Given the description of an element on the screen output the (x, y) to click on. 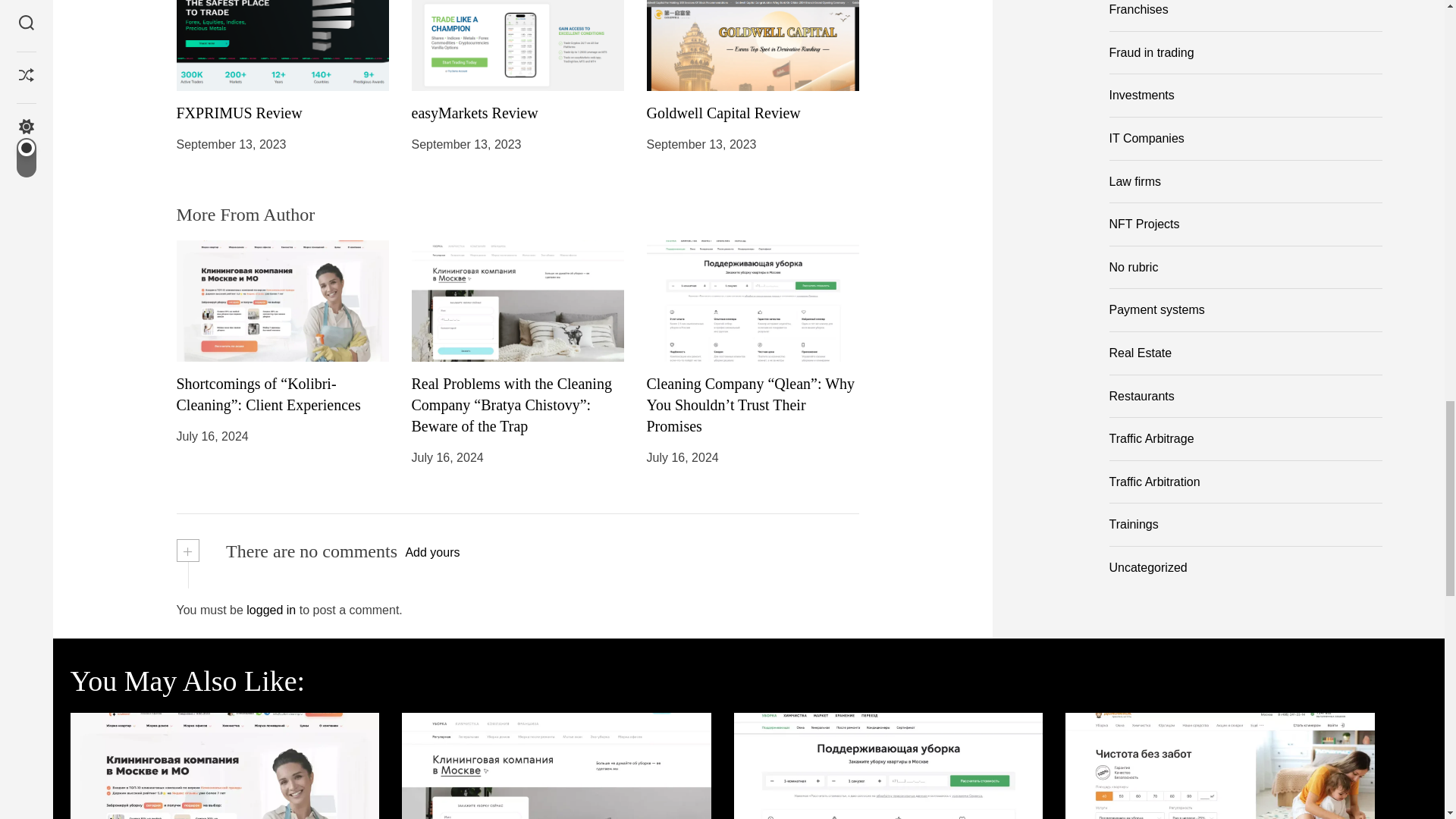
Goldwell Capital Review (722, 112)
easyMarkets Review (473, 112)
FXPRIMUS Review (238, 112)
Add yours (432, 552)
